Given the description of an element on the screen output the (x, y) to click on. 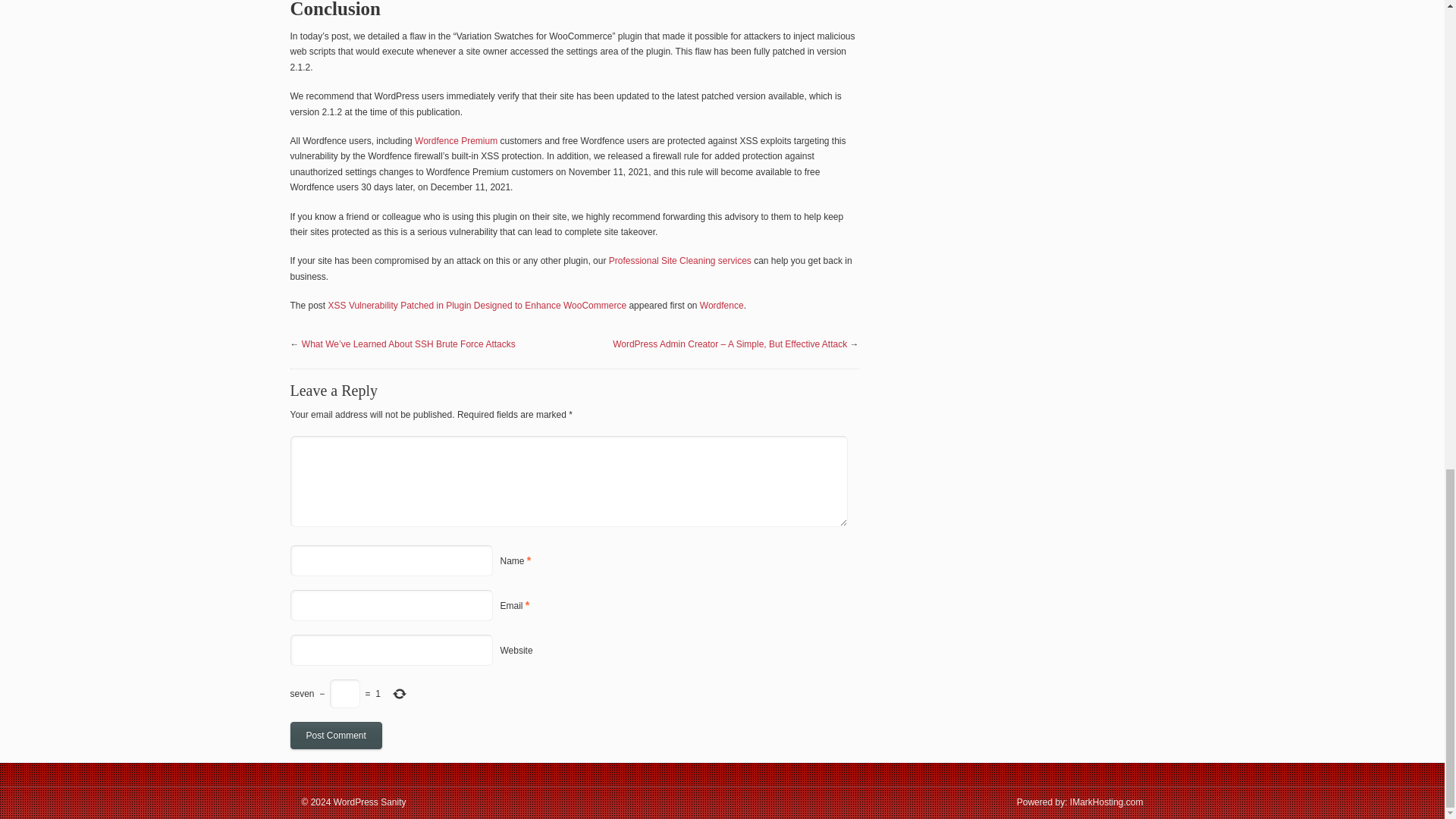
Wordfence Premium (455, 140)
Post Comment (335, 735)
Wordfence (722, 305)
Professional Site Cleaning services (679, 260)
Post Comment (335, 735)
